Given the description of an element on the screen output the (x, y) to click on. 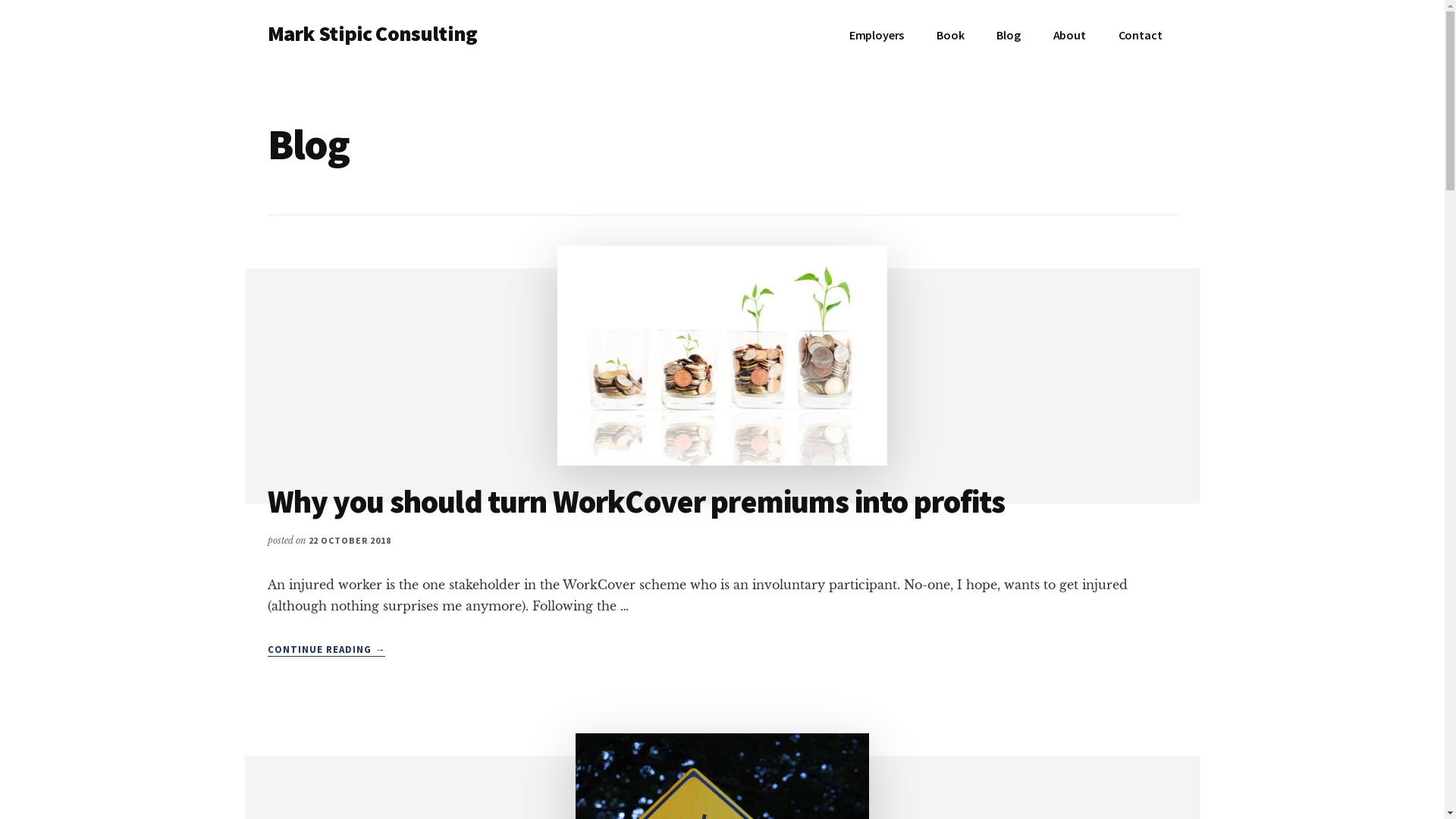
Employers Element type: text (876, 34)
Contact Element type: text (1140, 34)
About Element type: text (1069, 34)
Blog Element type: text (1008, 34)
Mark Stipic Consulting Element type: text (371, 33)
Skip to main content Element type: text (0, 0)
Book Element type: text (950, 34)
Why you should turn WorkCover premiums into profits Element type: text (635, 500)
